Given the description of an element on the screen output the (x, y) to click on. 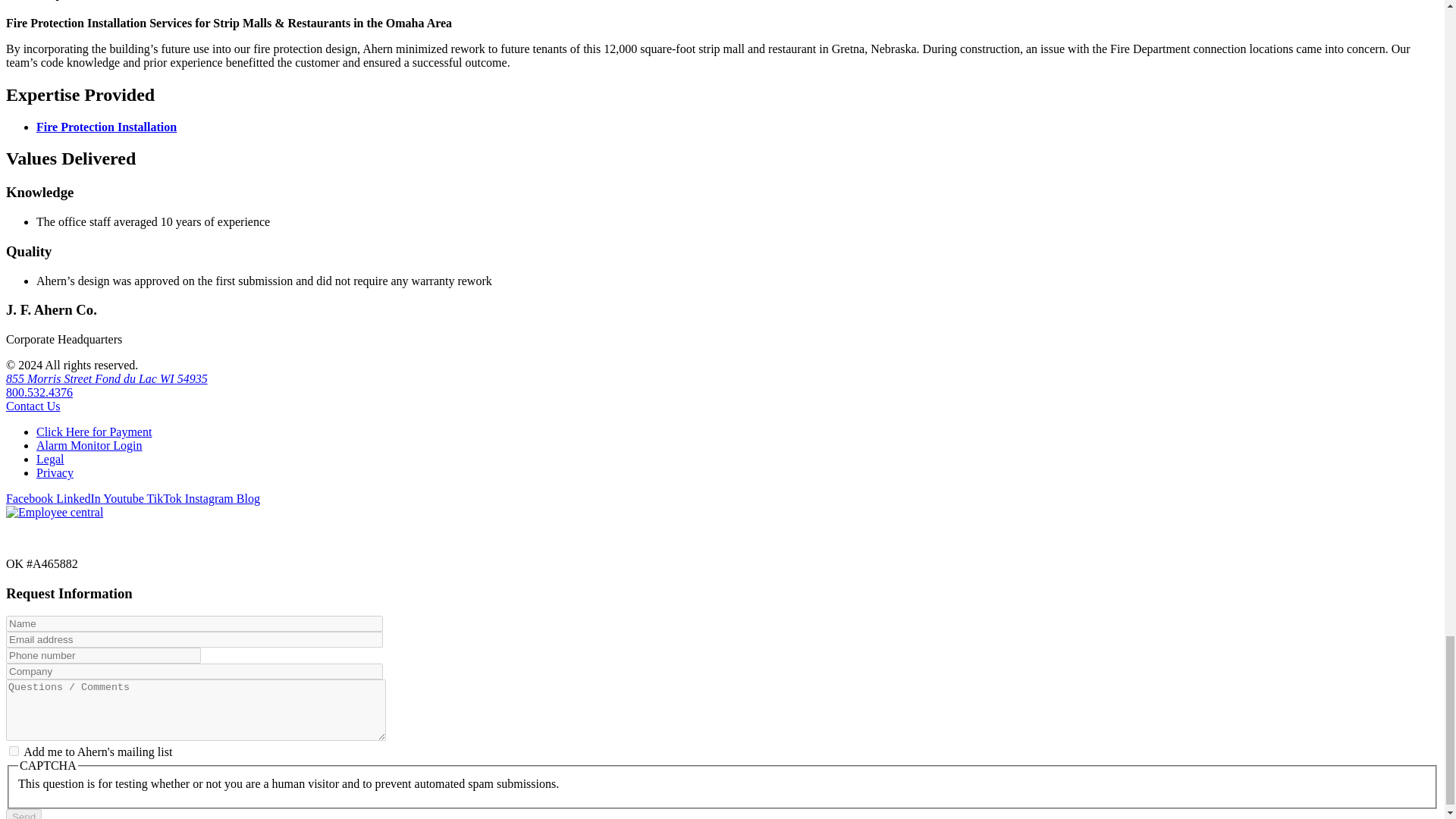
Blog (247, 498)
TikTok (165, 498)
Youtube (125, 498)
Instagram (209, 498)
LinkedIn (79, 498)
1 (13, 750)
Facebook (30, 498)
